Given the description of an element on the screen output the (x, y) to click on. 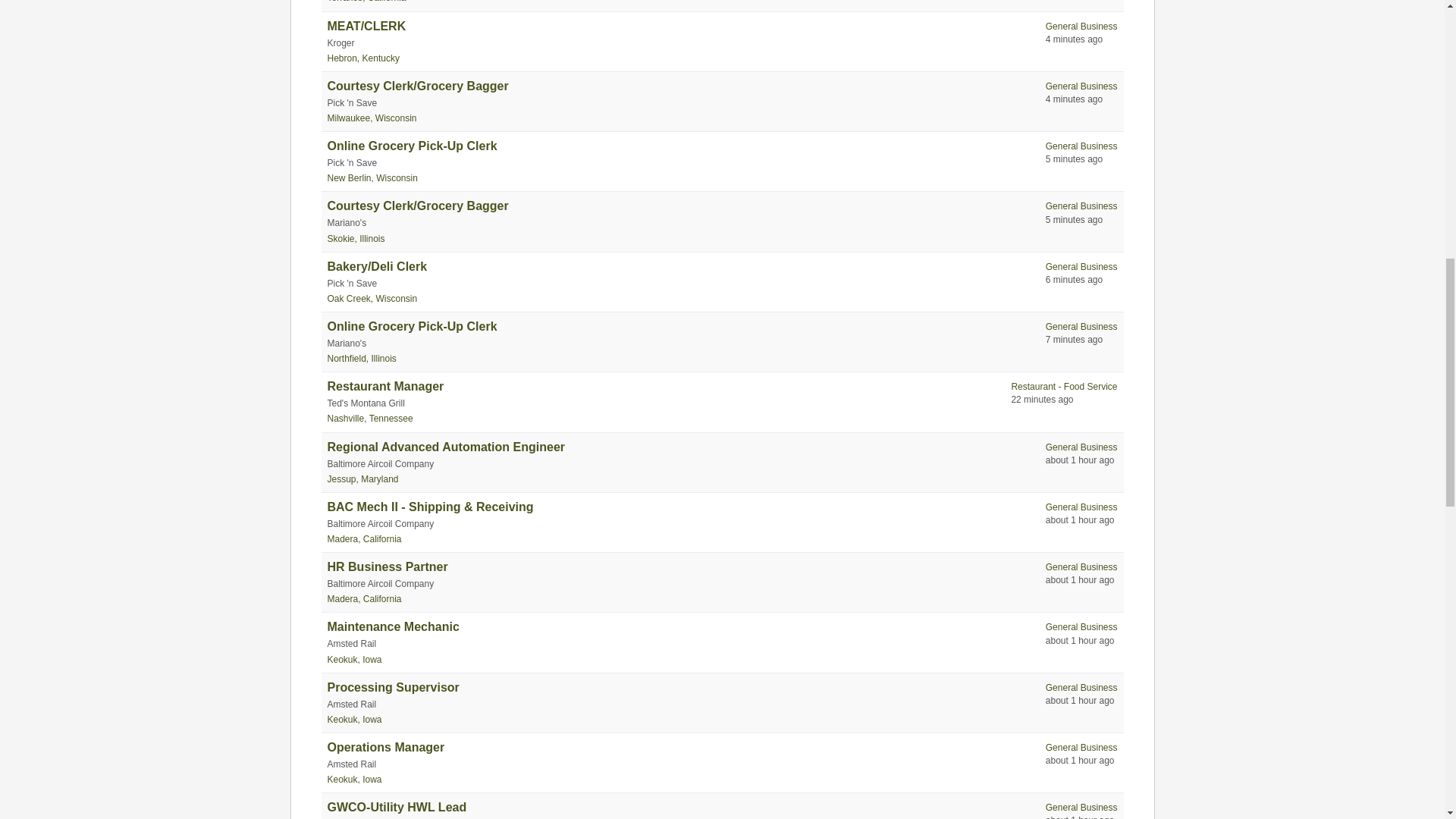
General Business (1081, 205)
General Business (1081, 145)
Milwaukee, Wisconsin (371, 118)
General Business (1081, 86)
Online Grocery Pick-Up Clerk (412, 145)
Torrance, California (366, 1)
New Berlin, Wisconsin (372, 177)
Hebron, Kentucky (362, 58)
General Business (1081, 26)
